Given the description of an element on the screen output the (x, y) to click on. 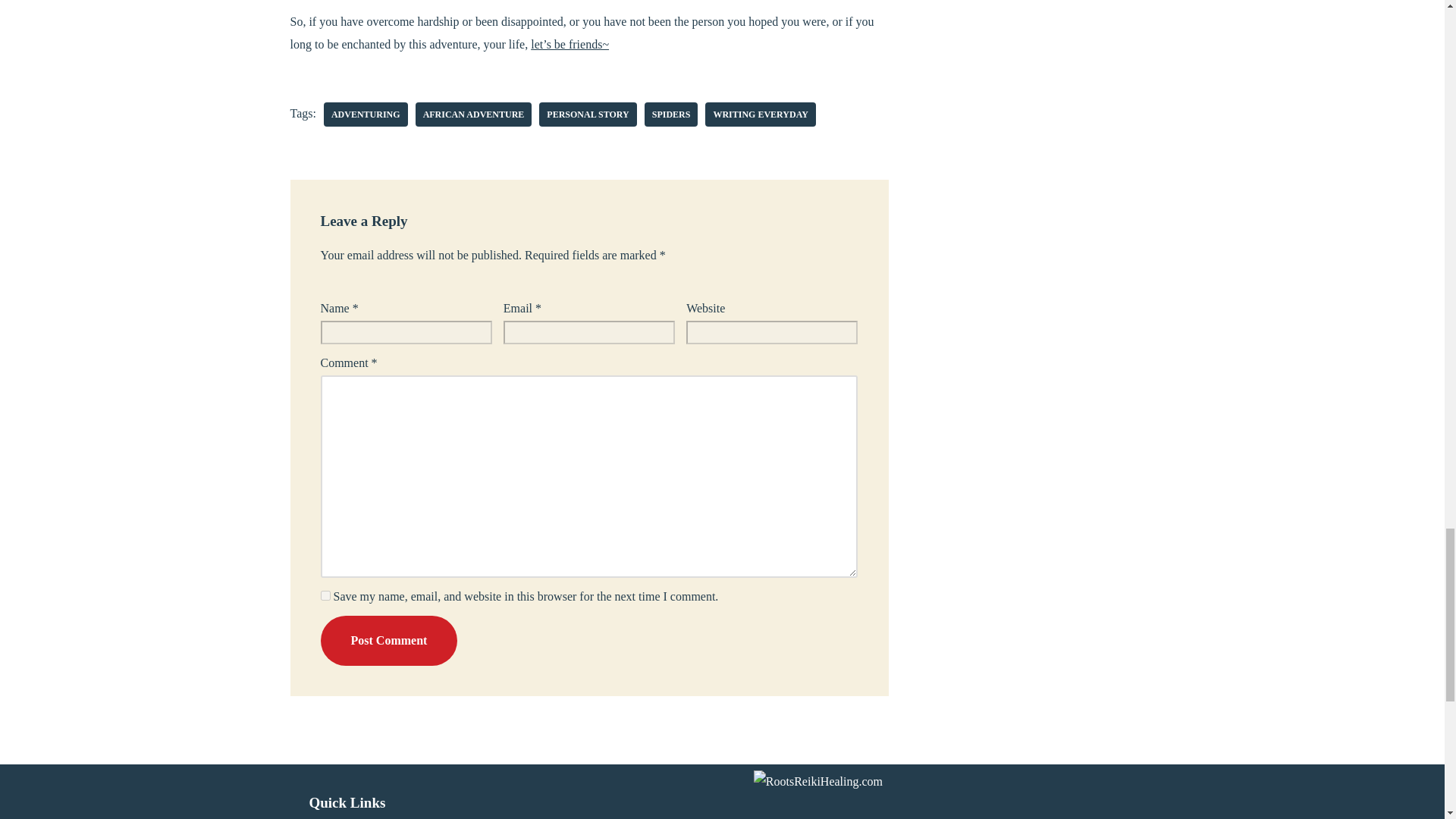
Adventuring (365, 114)
ADVENTURING (365, 114)
African Adventure (473, 114)
Spiders (671, 114)
Writing everyday (759, 114)
AFRICAN ADVENTURE (473, 114)
personal story (587, 114)
yes (325, 595)
Post Comment (388, 640)
